Given the description of an element on the screen output the (x, y) to click on. 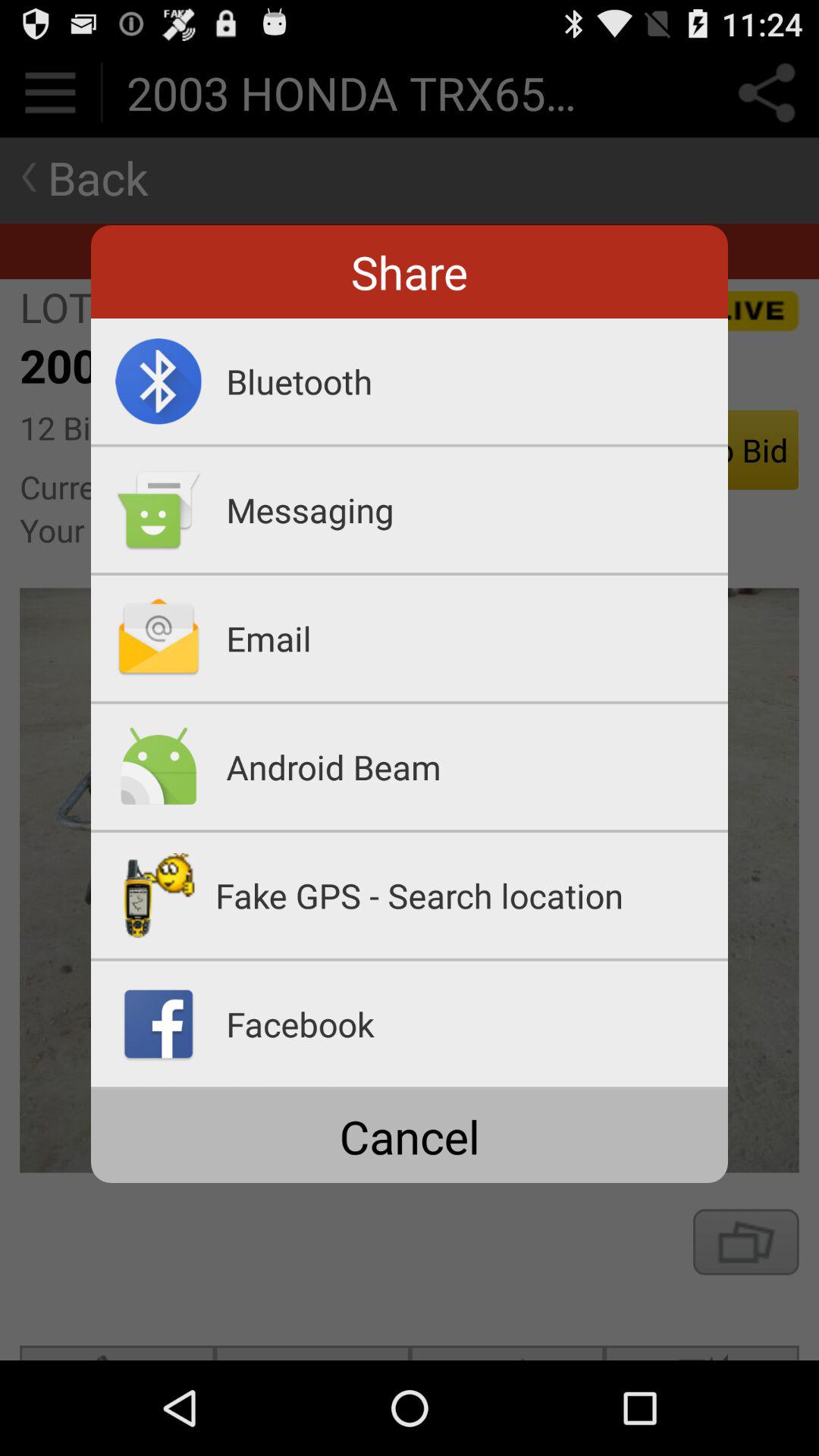
choose the facebook app (477, 1023)
